Given the description of an element on the screen output the (x, y) to click on. 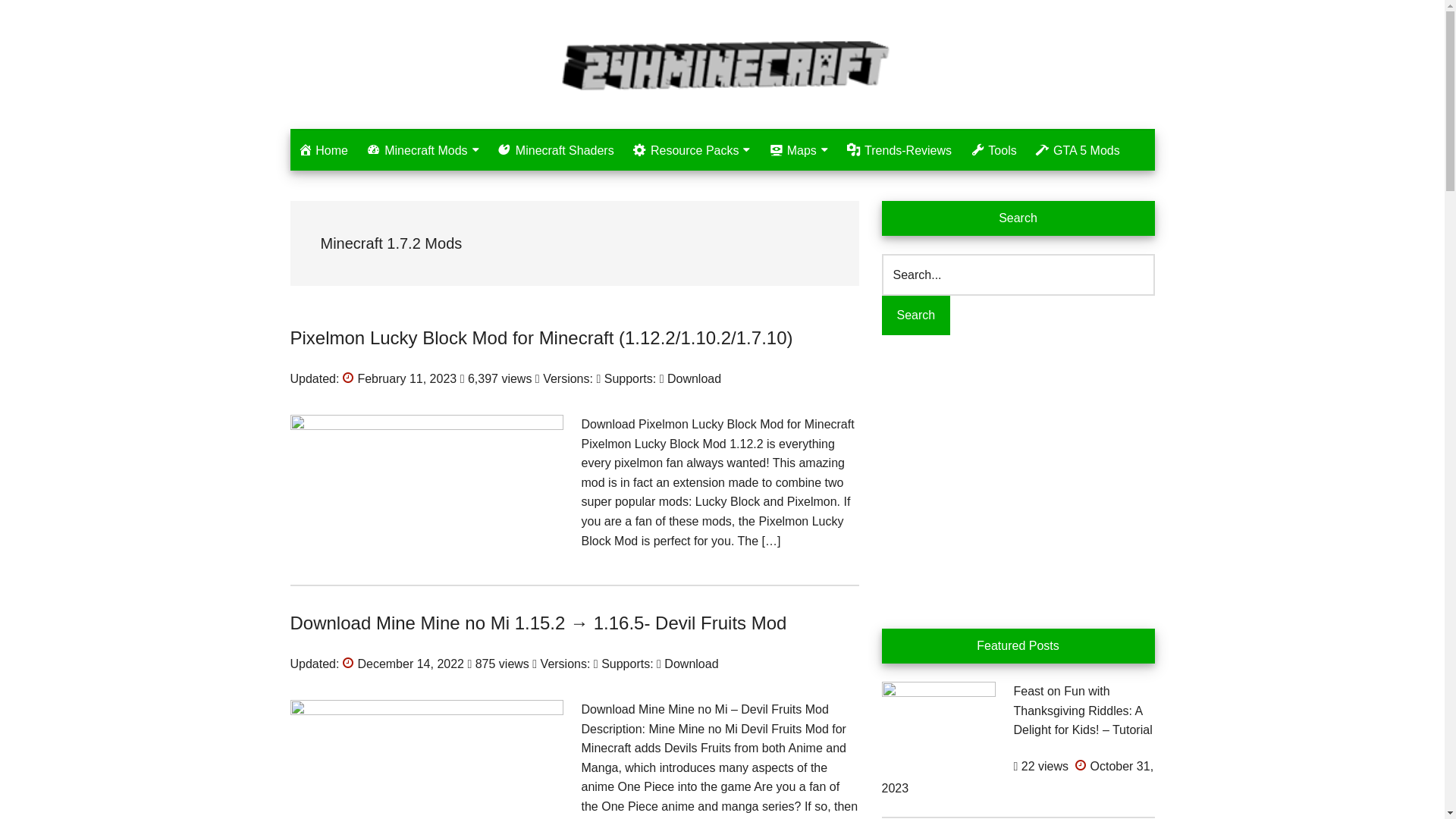
Tools Element type: text (993, 150)
Maps Element type: text (798, 150)
Resource Packs Element type: text (690, 150)
Search Element type: text (915, 315)
Minecraft Shaders Element type: text (555, 150)
Advertisement Element type: hover (1017, 479)
Home Element type: text (321, 150)
GTA 5 Mods Element type: text (1077, 150)
24hMinecraft | The Best Minecraft Mods, Mods, Resource Pack Element type: text (721, 64)
Trends-Reviews Element type: text (898, 150)
Minecraft Mods Element type: text (422, 150)
